Given the description of an element on the screen output the (x, y) to click on. 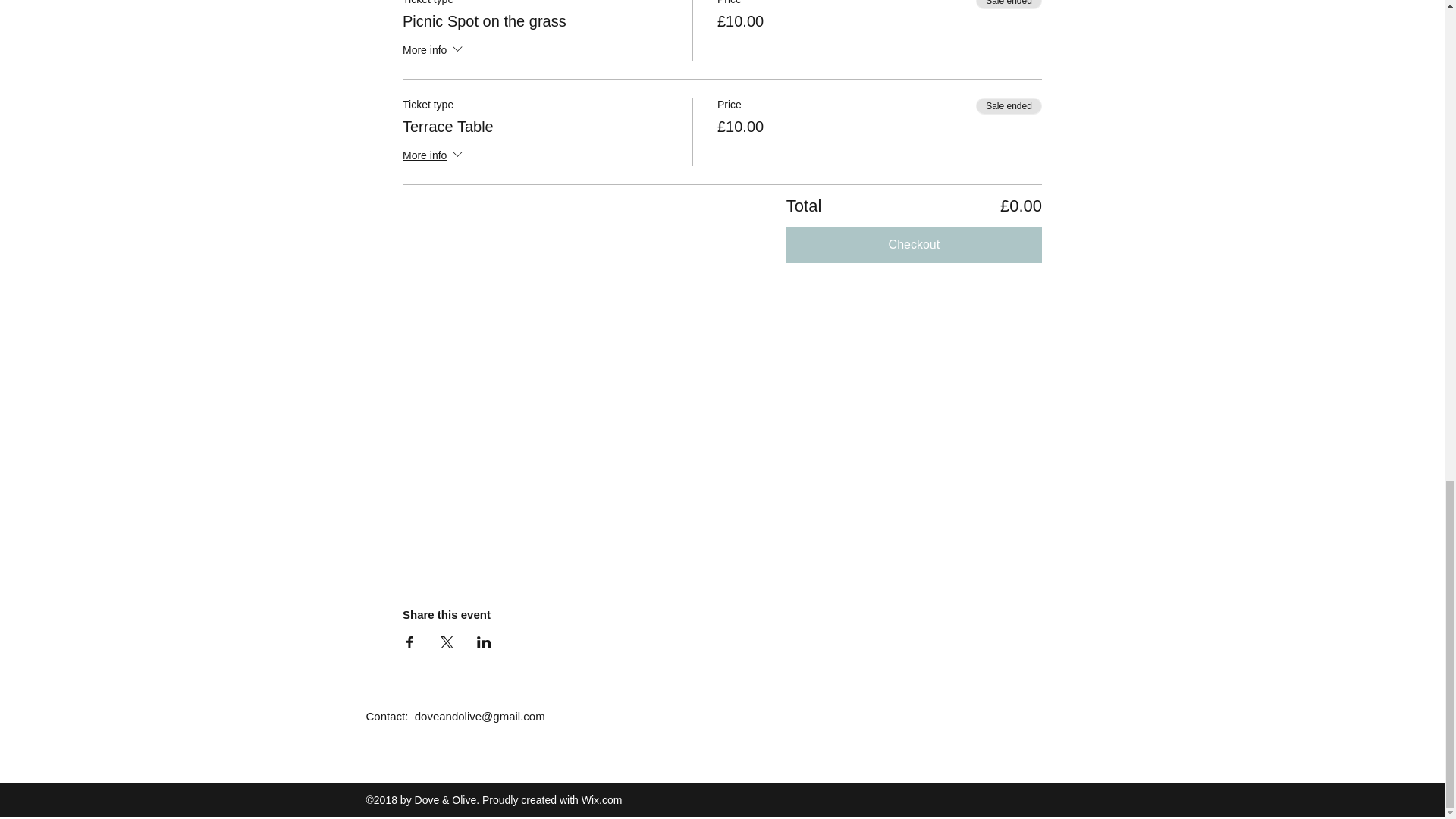
Checkout (914, 244)
More info (434, 156)
More info (434, 50)
